Given the description of an element on the screen output the (x, y) to click on. 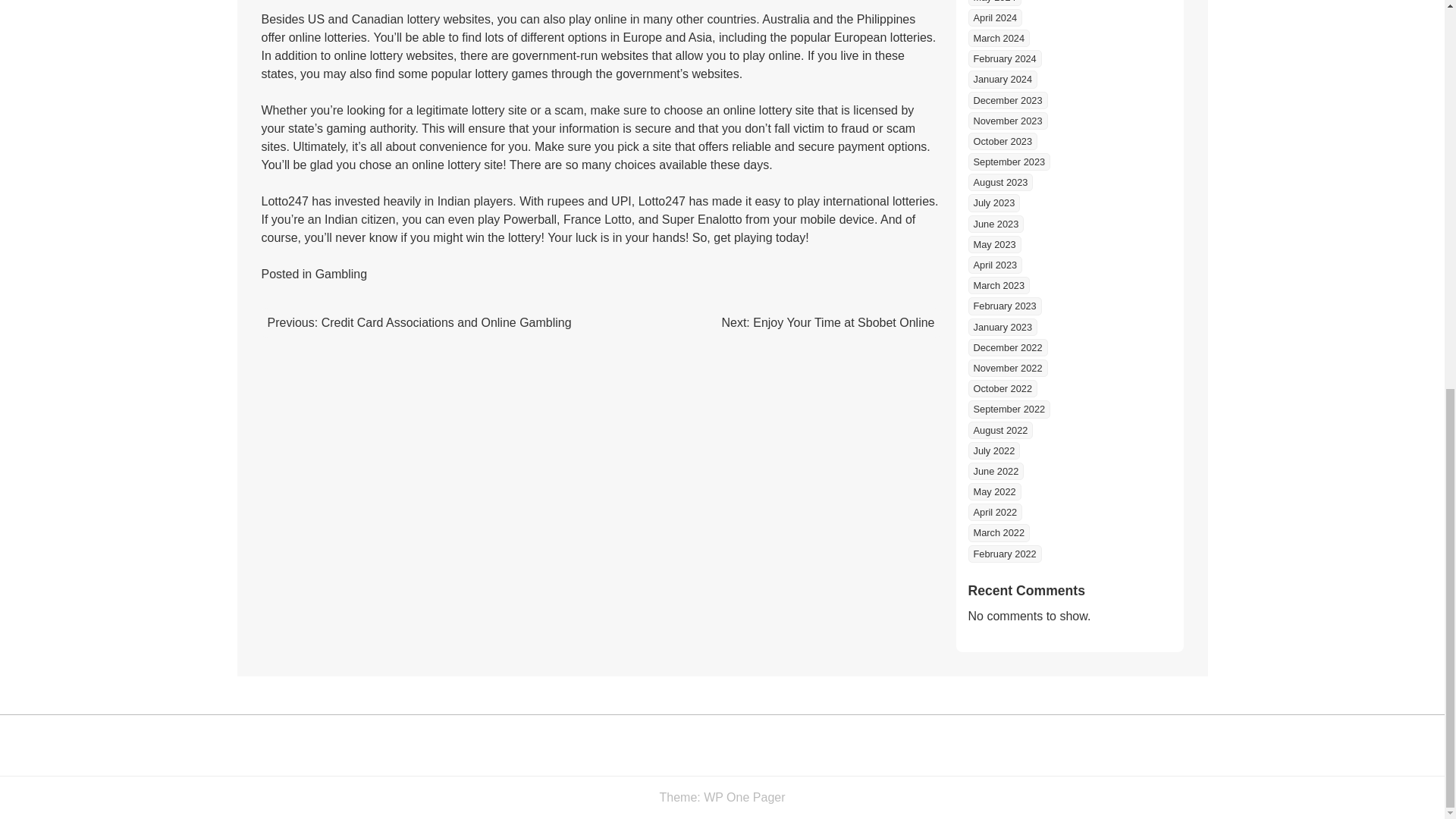
January 2024 (1002, 78)
April 2024 (995, 17)
Next: Enjoy Your Time at Sbobet Online (827, 322)
September 2022 (1008, 408)
February 2024 (1004, 58)
October 2022 (1002, 388)
November 2023 (1007, 120)
Previous: Credit Card Associations and Online Gambling (418, 322)
Gambling (340, 273)
June 2022 (995, 470)
October 2023 (1002, 140)
March 2023 (998, 285)
May 2023 (994, 244)
April 2023 (995, 264)
March 2024 (998, 37)
